Given the description of an element on the screen output the (x, y) to click on. 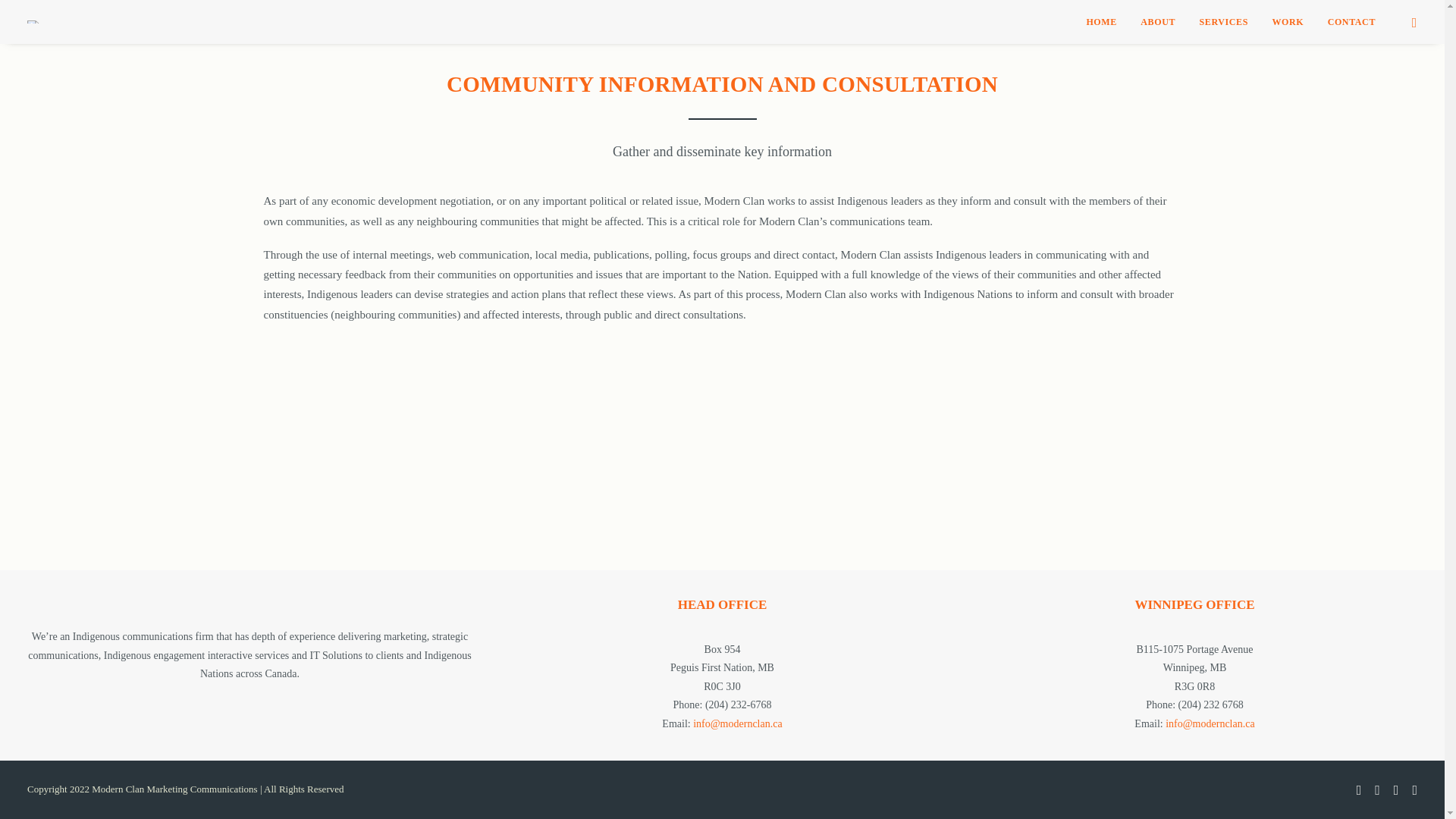
Work (1287, 22)
CONTACT (1346, 22)
Home (1100, 22)
SERVICES (1224, 22)
Services (1224, 22)
HOME (1100, 22)
WORK (1287, 22)
ABOUT (1157, 22)
Contact (1346, 22)
About (1157, 22)
